Given the description of an element on the screen output the (x, y) to click on. 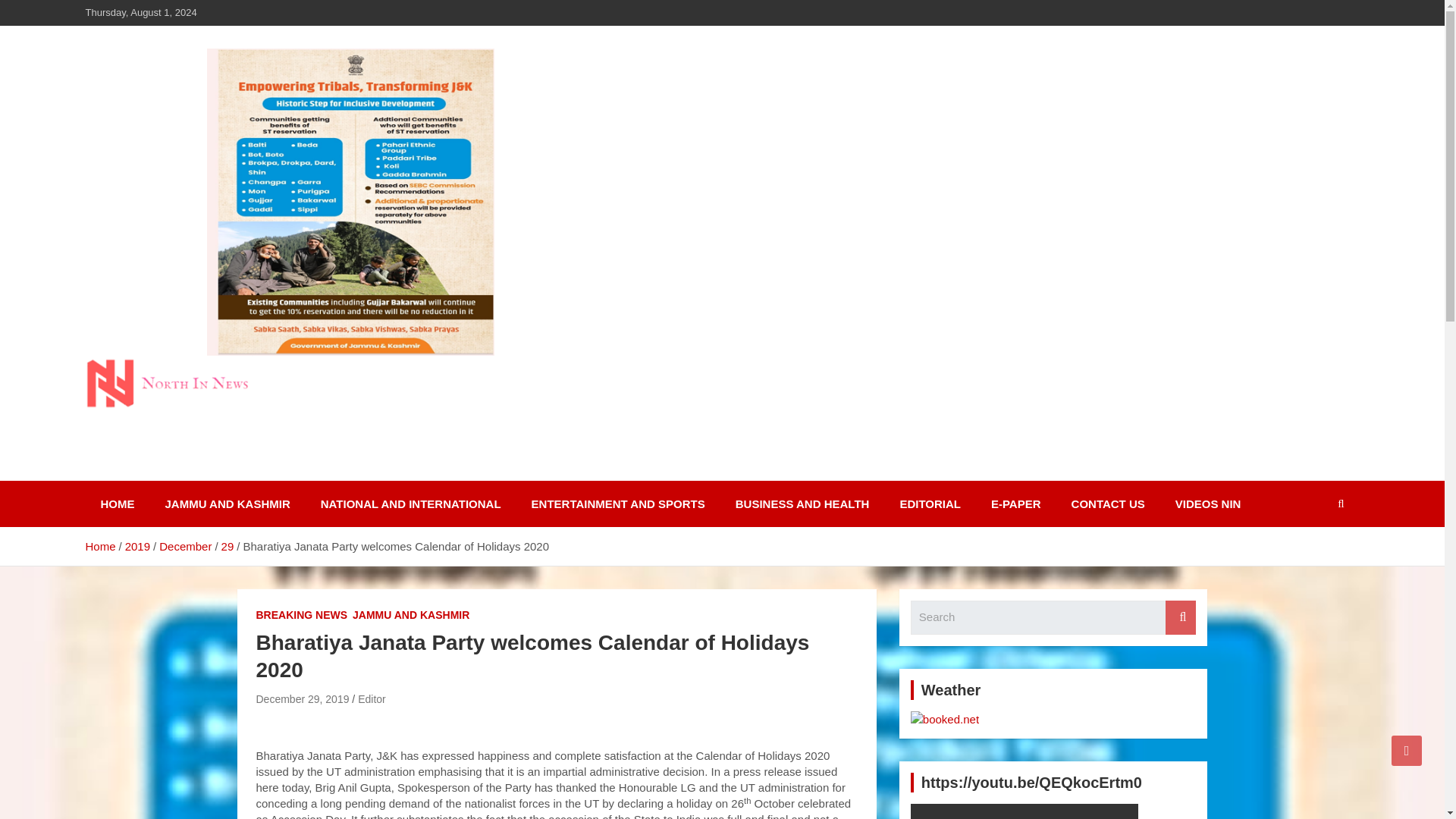
ENTERTAINMENT AND SPORTS (618, 503)
December 29, 2019 (302, 698)
2019 (137, 545)
December (184, 545)
NATIONAL AND INTERNATIONAL (410, 503)
CONTACT US (1108, 503)
VIDEOS NIN (1208, 503)
E-PAPER (1016, 503)
29 (227, 545)
North in News (186, 477)
